Given the description of an element on the screen output the (x, y) to click on. 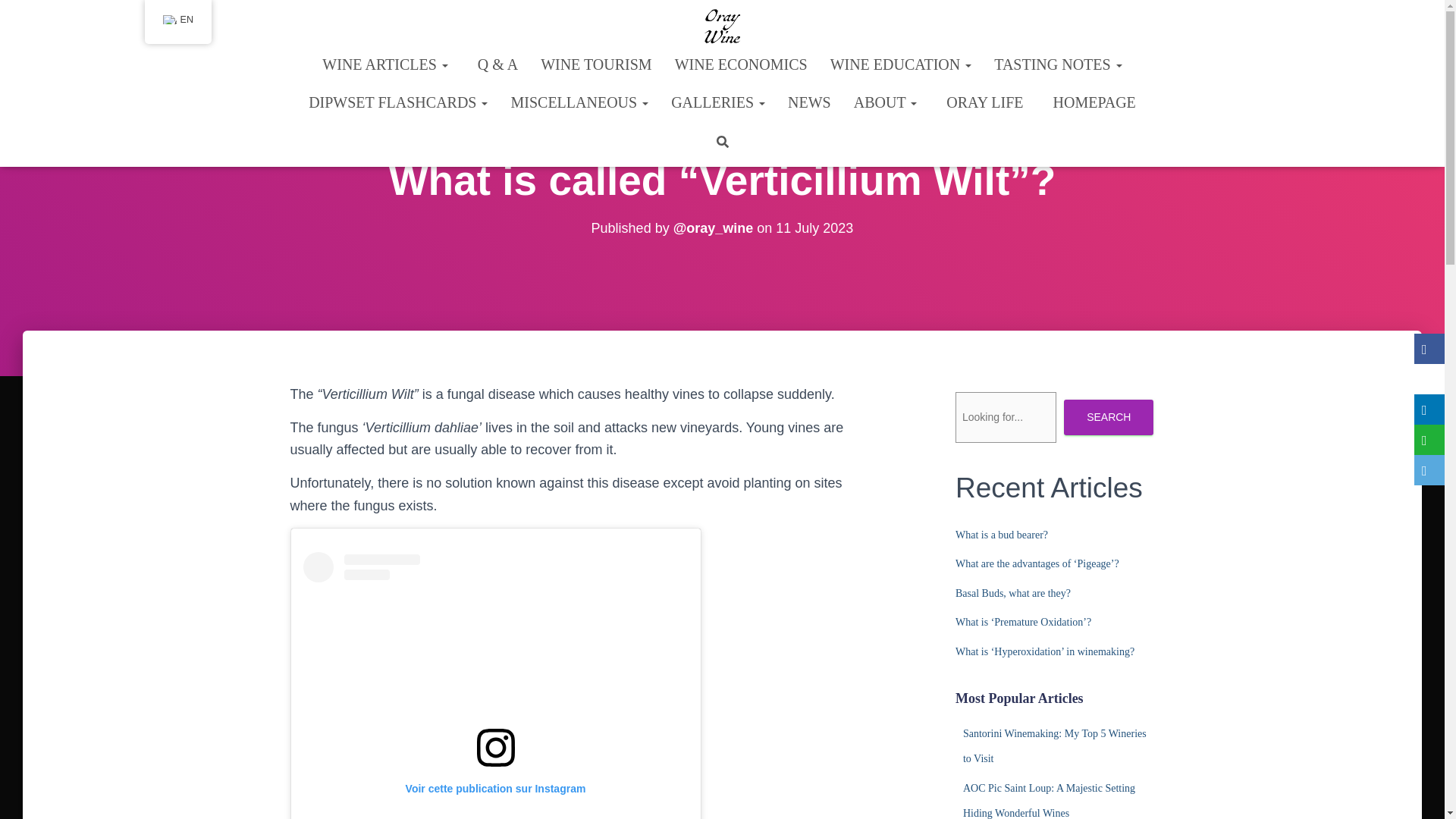
WINE TOURISM (595, 64)
WINE ECONOMICS (740, 64)
Wine Articles (384, 64)
WINE ARTICLES (384, 64)
Wine Tourism (595, 64)
Oray (721, 26)
Wine Economics (740, 64)
Wine Education (901, 64)
WINE EDUCATION (901, 64)
TASTING NOTES (1057, 64)
